Given the description of an element on the screen output the (x, y) to click on. 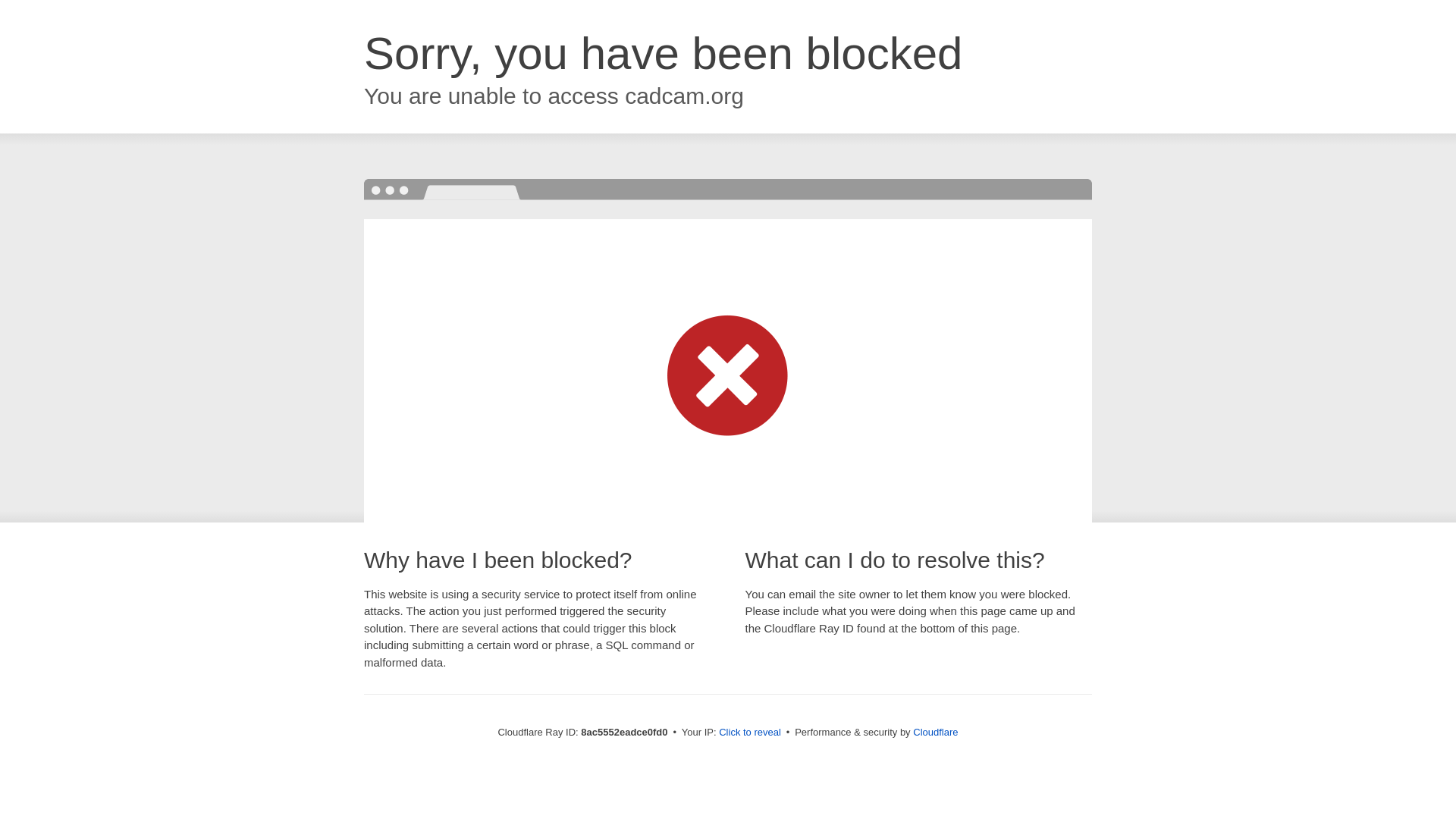
Click to reveal (749, 732)
Cloudflare (935, 731)
